Given the description of an element on the screen output the (x, y) to click on. 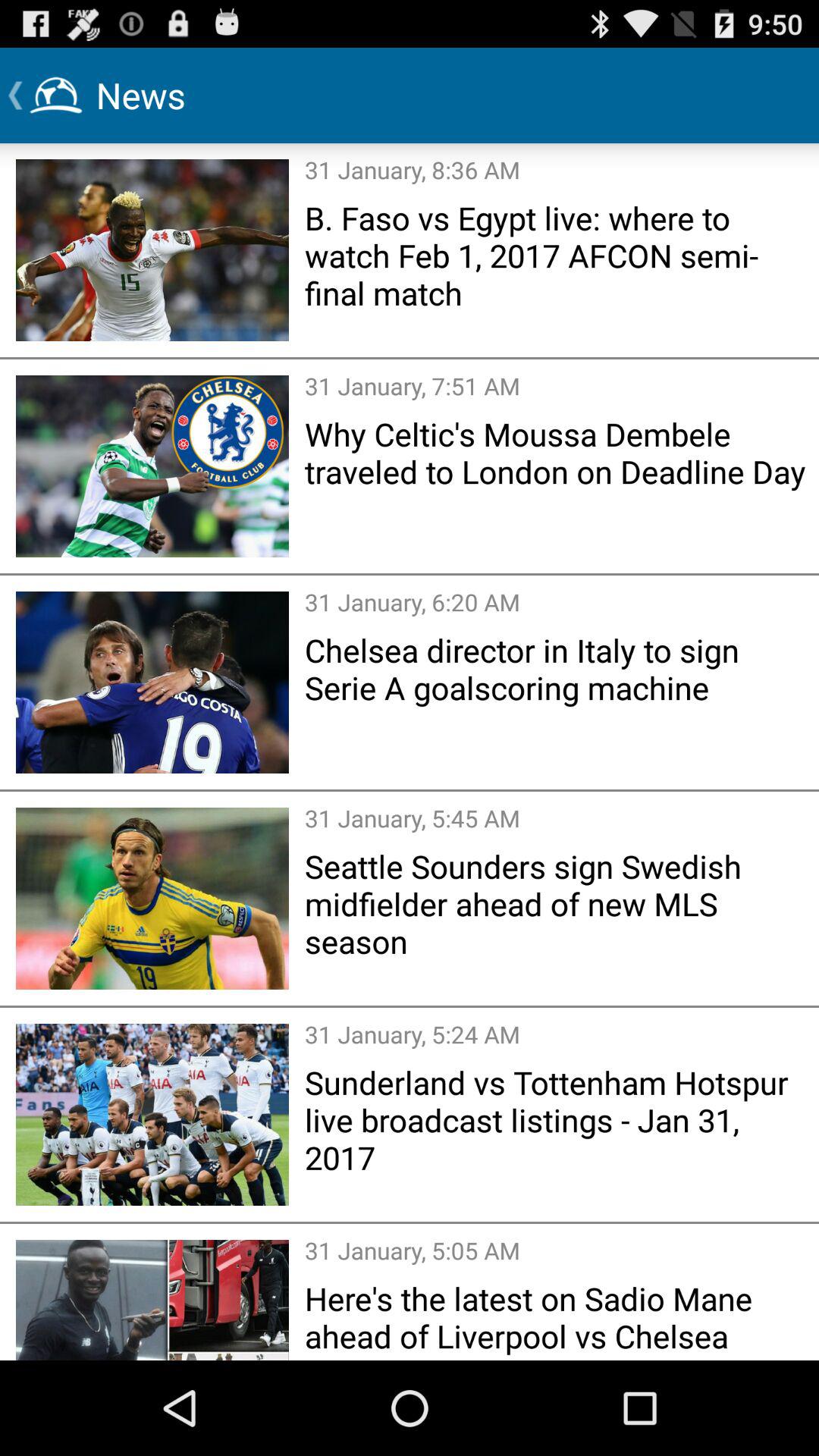
turn off item below the 31 january 7 app (556, 452)
